Given the description of an element on the screen output the (x, y) to click on. 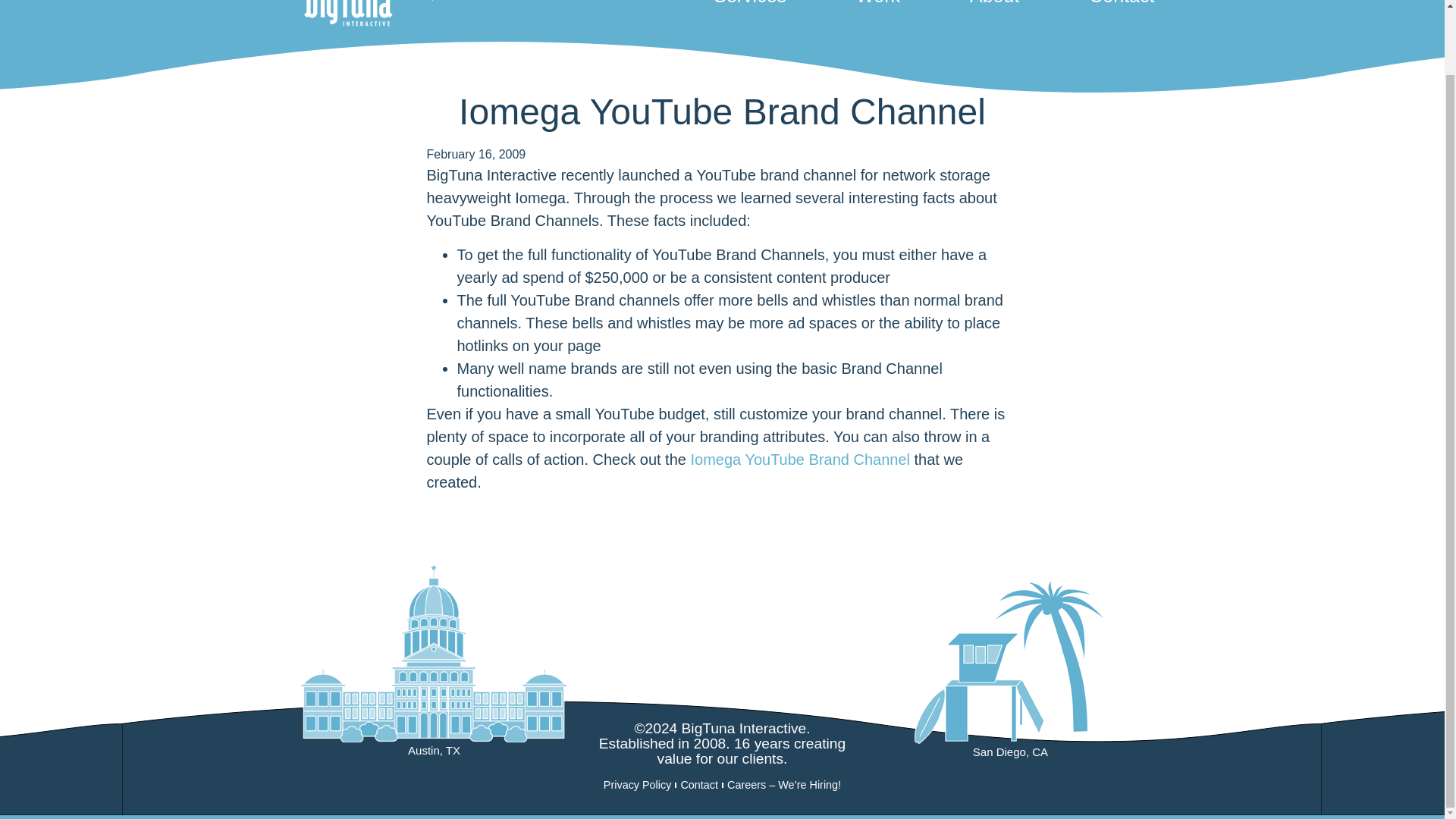
Contact (1114, 5)
Work (877, 5)
Privacy Policy (637, 784)
About (994, 5)
Iomega YouTube Brand Channel (799, 459)
Services (749, 5)
Contact (699, 784)
